Given the description of an element on the screen output the (x, y) to click on. 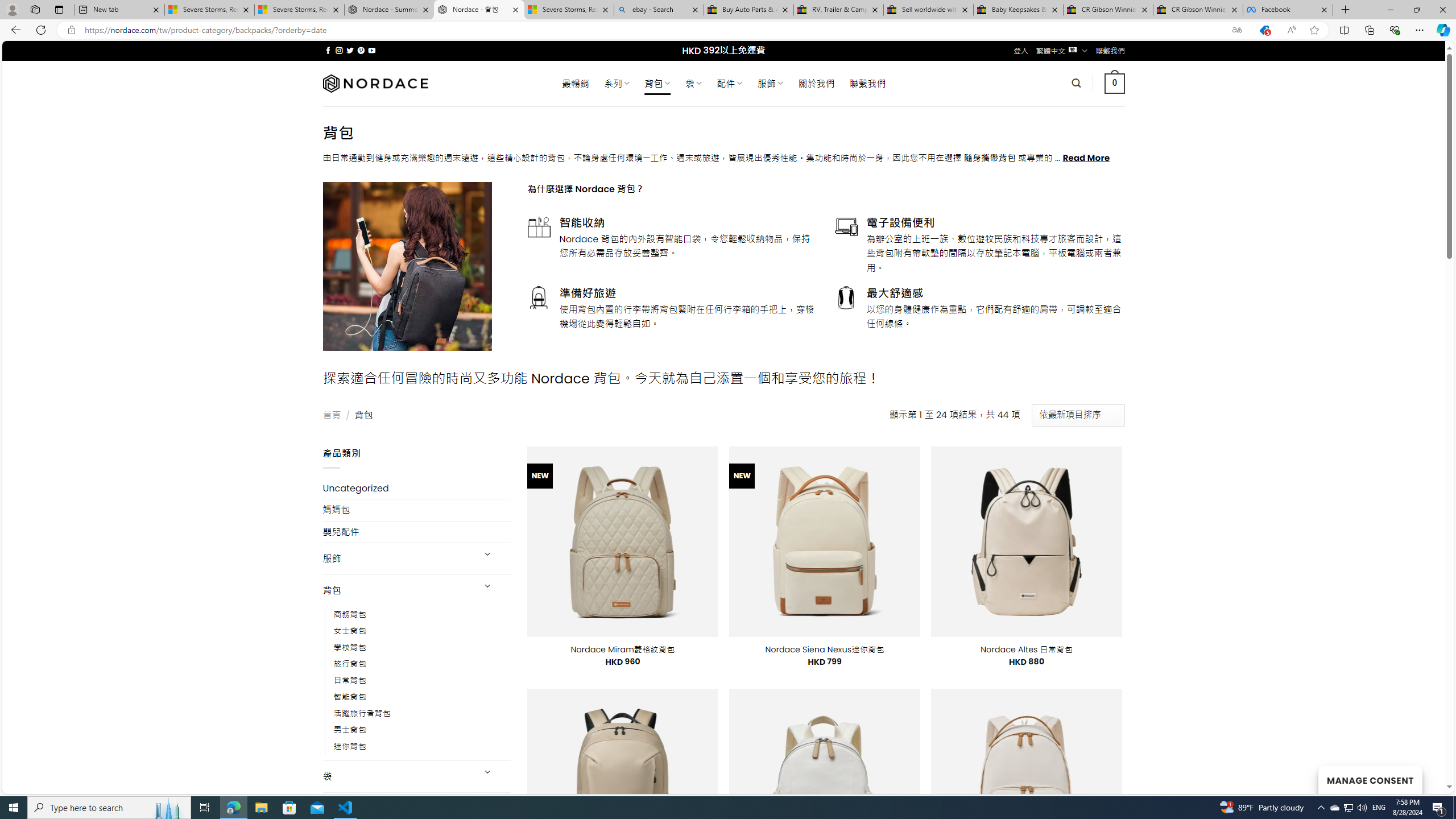
This site has coupons! Shopping in Microsoft Edge, 5 (1263, 29)
Settings and more (Alt+F) (1419, 29)
Close tab (1324, 9)
Back (13, 29)
Refresh (40, 29)
